Given the description of an element on the screen output the (x, y) to click on. 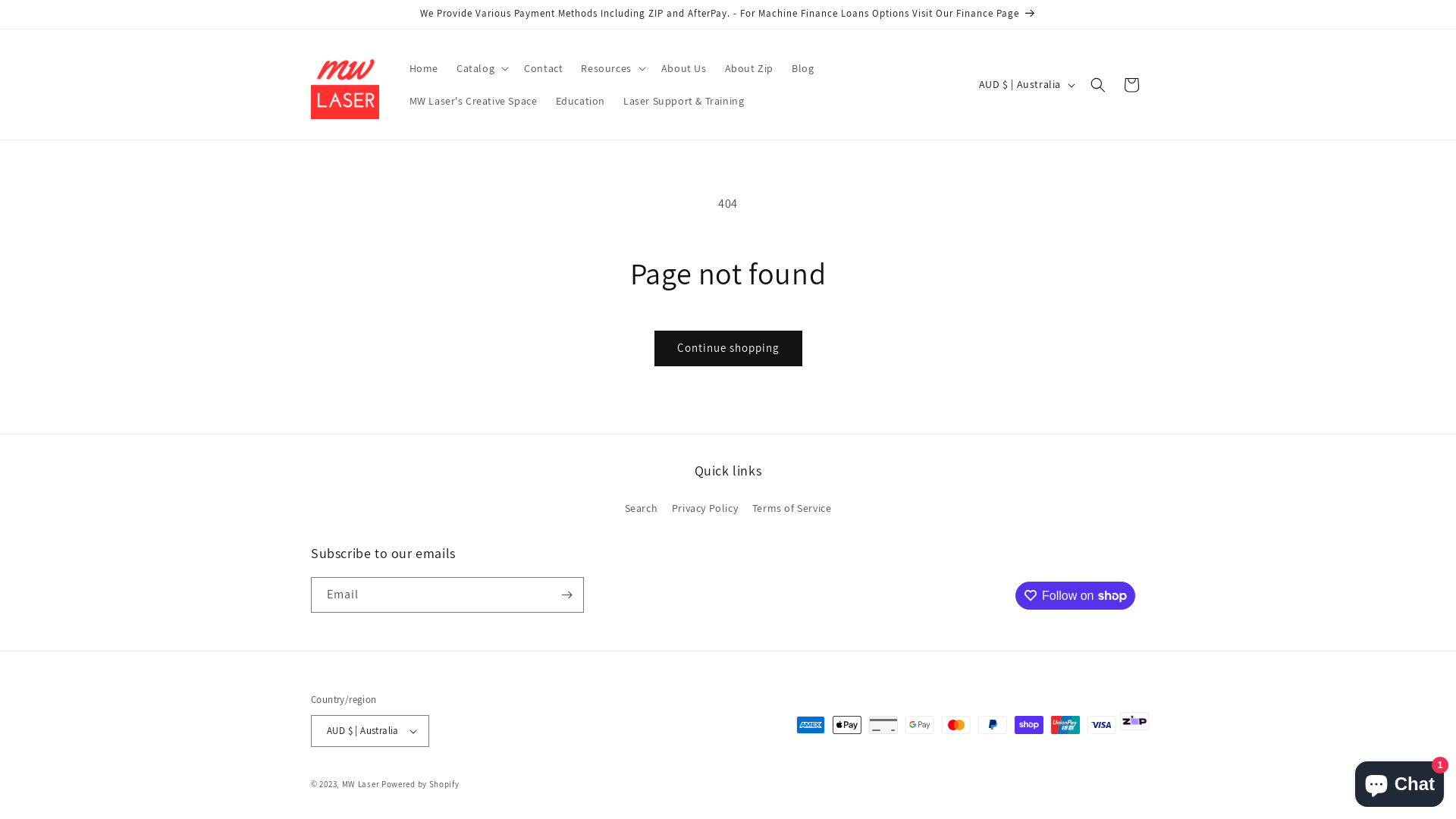
MW Laser's Creative Space Element type: text (473, 100)
Home Element type: text (423, 68)
Powered by Shopify Element type: text (420, 783)
Privacy Policy Element type: text (704, 508)
AUD $ | Australia Element type: text (369, 730)
Laser Support & Training Element type: text (683, 100)
Shopify online store chat Element type: hover (1399, 780)
Terms of Service Element type: text (791, 508)
MW Laser Element type: text (360, 783)
AUD $ | Australia Element type: text (1025, 83)
Continue shopping Element type: text (727, 348)
About Zip Element type: text (748, 68)
About Us Element type: text (683, 68)
Cart Element type: text (1131, 84)
Search Element type: text (641, 509)
Contact Element type: text (542, 68)
Blog Element type: text (802, 68)
Education Element type: text (579, 100)
